Given the description of an element on the screen output the (x, y) to click on. 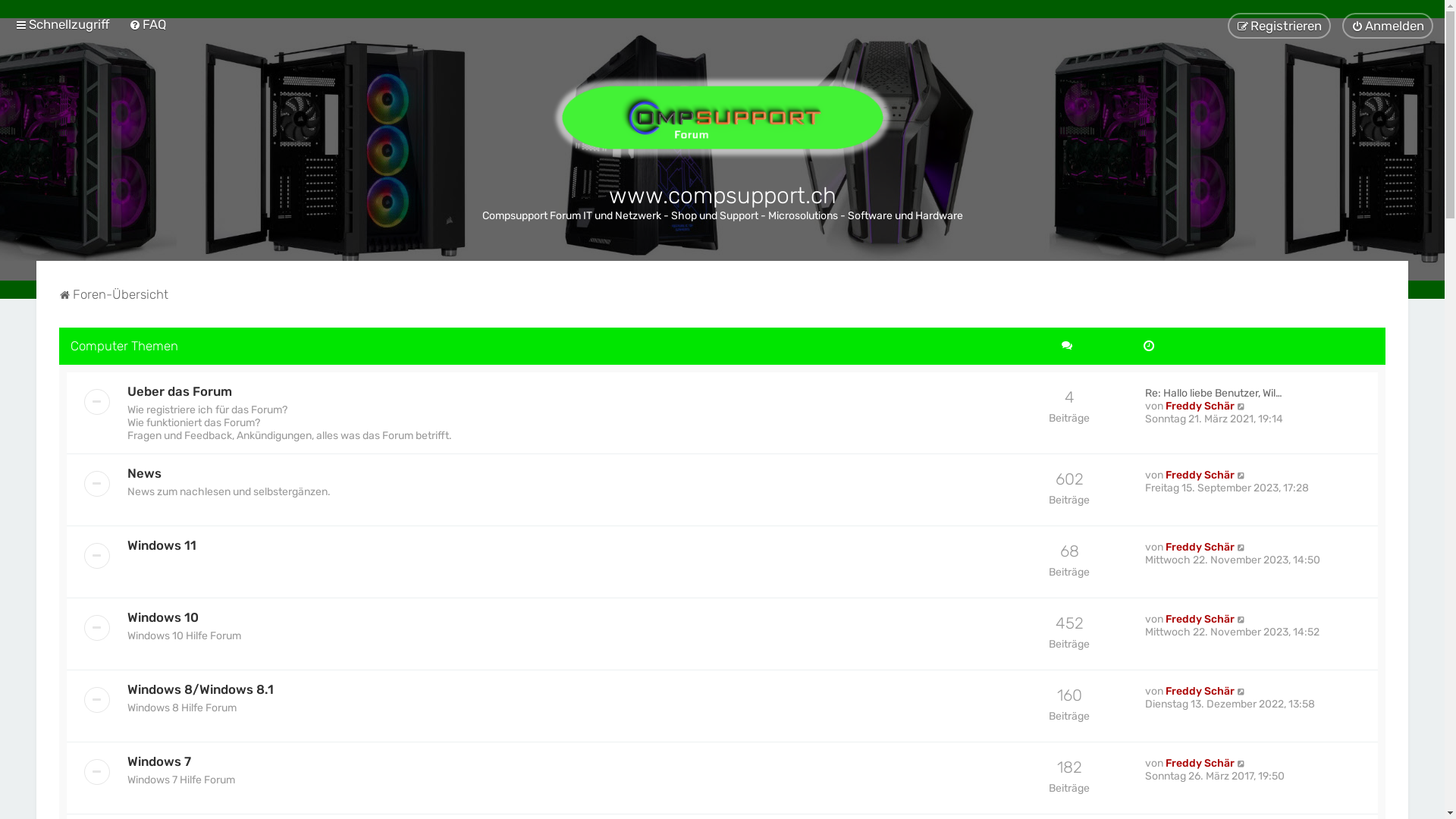
News Element type: text (144, 472)
Registrieren Element type: text (1278, 25)
Computer Themen Element type: text (124, 345)
Windows 11 Element type: text (161, 544)
Windows 7 Element type: text (159, 760)
Windows 10 Element type: text (162, 616)
Neuester Beitrag Element type: text (1241, 762)
Anmelden Element type: text (1387, 25)
FAQ Element type: text (147, 23)
Neuester Beitrag Element type: text (1241, 405)
Schnellzugriff Element type: text (62, 23)
Neuester Beitrag Element type: text (1241, 546)
Ueber das Forum Element type: text (179, 390)
Neuester Beitrag Element type: text (1241, 618)
Windows 8/Windows 8.1 Element type: text (200, 688)
Neuester Beitrag Element type: text (1241, 690)
Neuester Beitrag Element type: text (1241, 474)
